Given the description of an element on the screen output the (x, y) to click on. 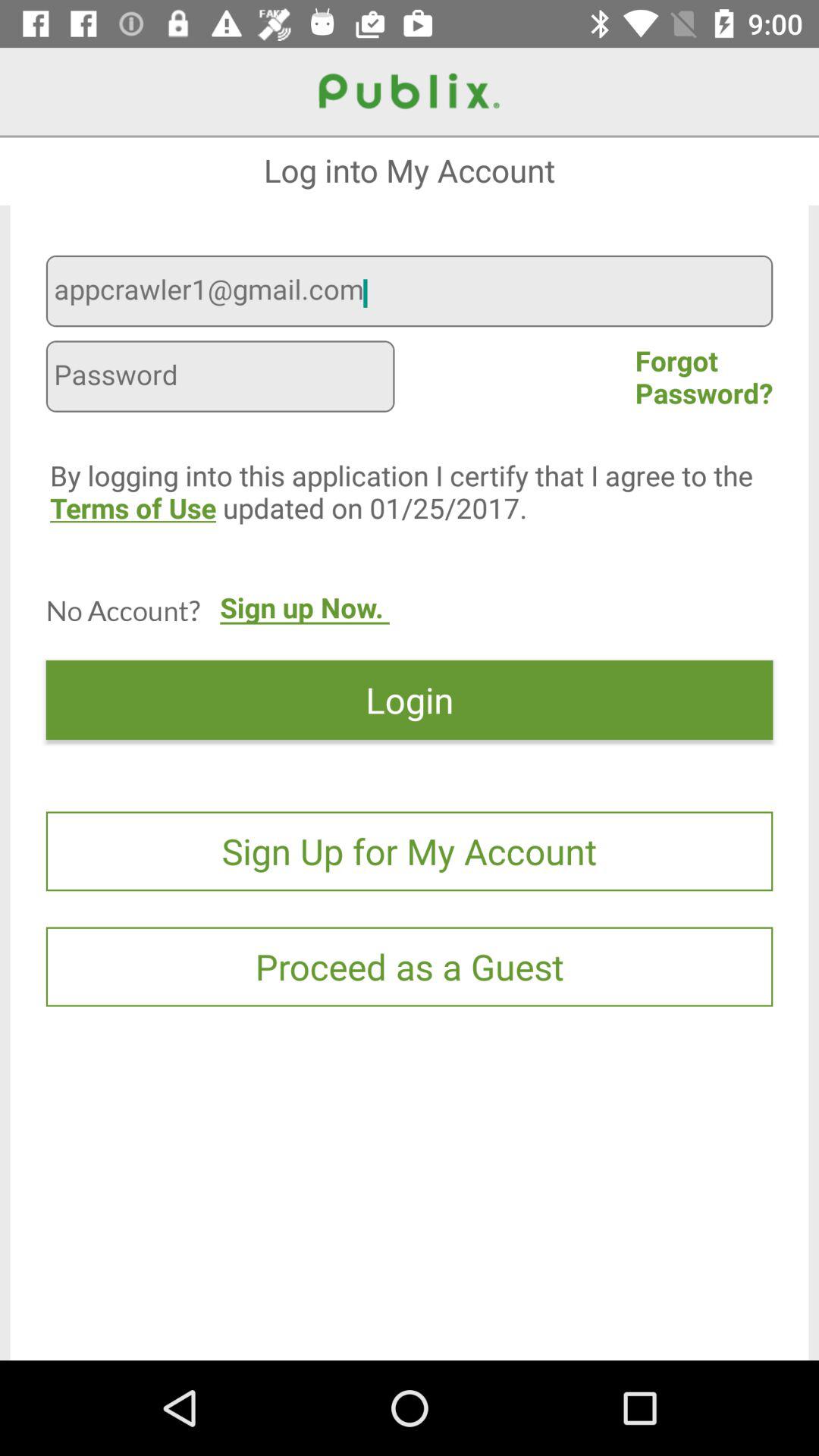
select the forgot
password? (703, 376)
